Given the description of an element on the screen output the (x, y) to click on. 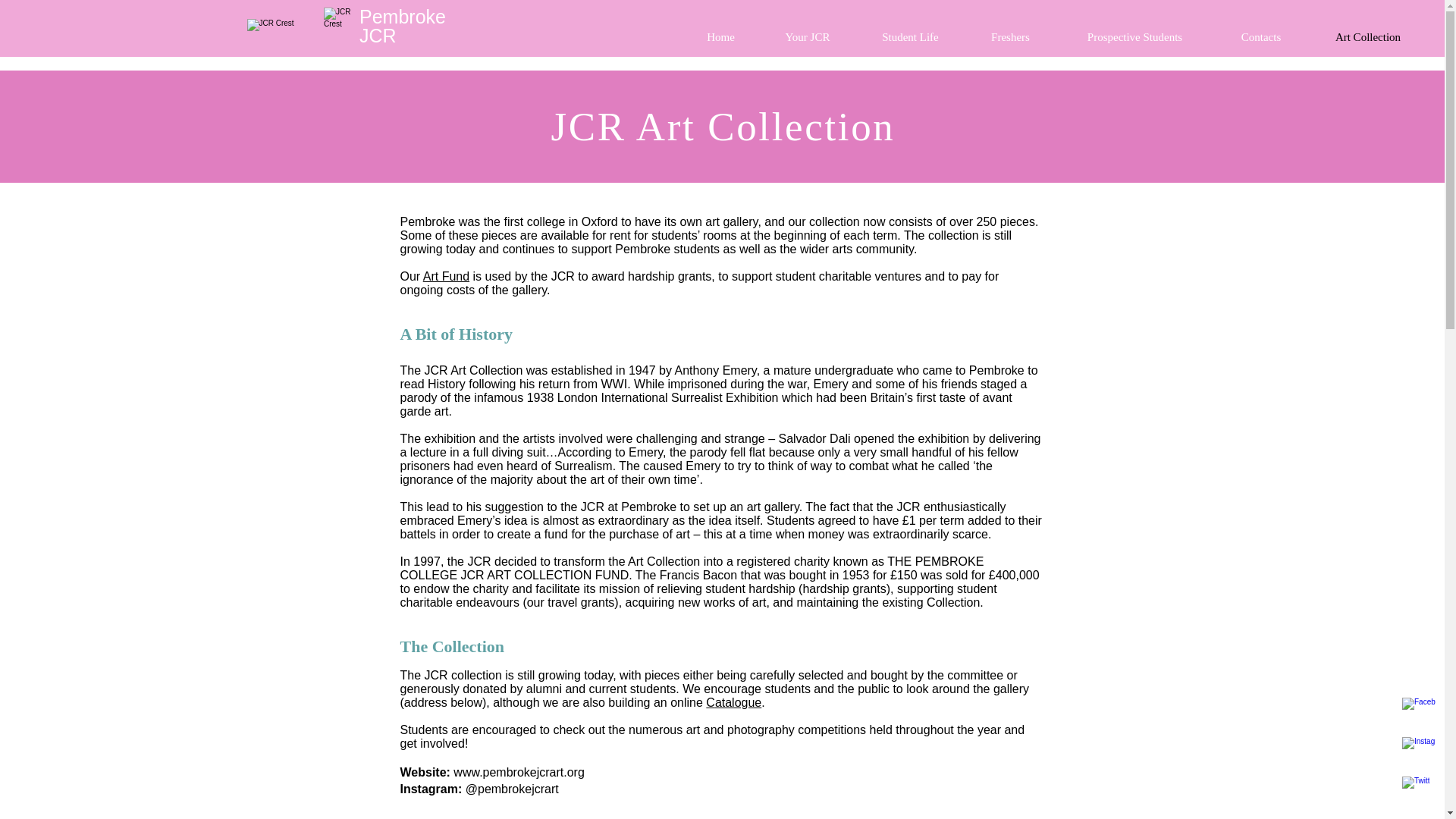
Art Collection (1367, 37)
Art Fund (445, 276)
Student Life (910, 37)
Prospective Students (1134, 37)
www.pembrokejcrart.org (518, 771)
Your JCR (808, 37)
Freshers (1010, 37)
Contacts (1260, 37)
Home (720, 37)
atalogue (737, 702)
